Given the description of an element on the screen output the (x, y) to click on. 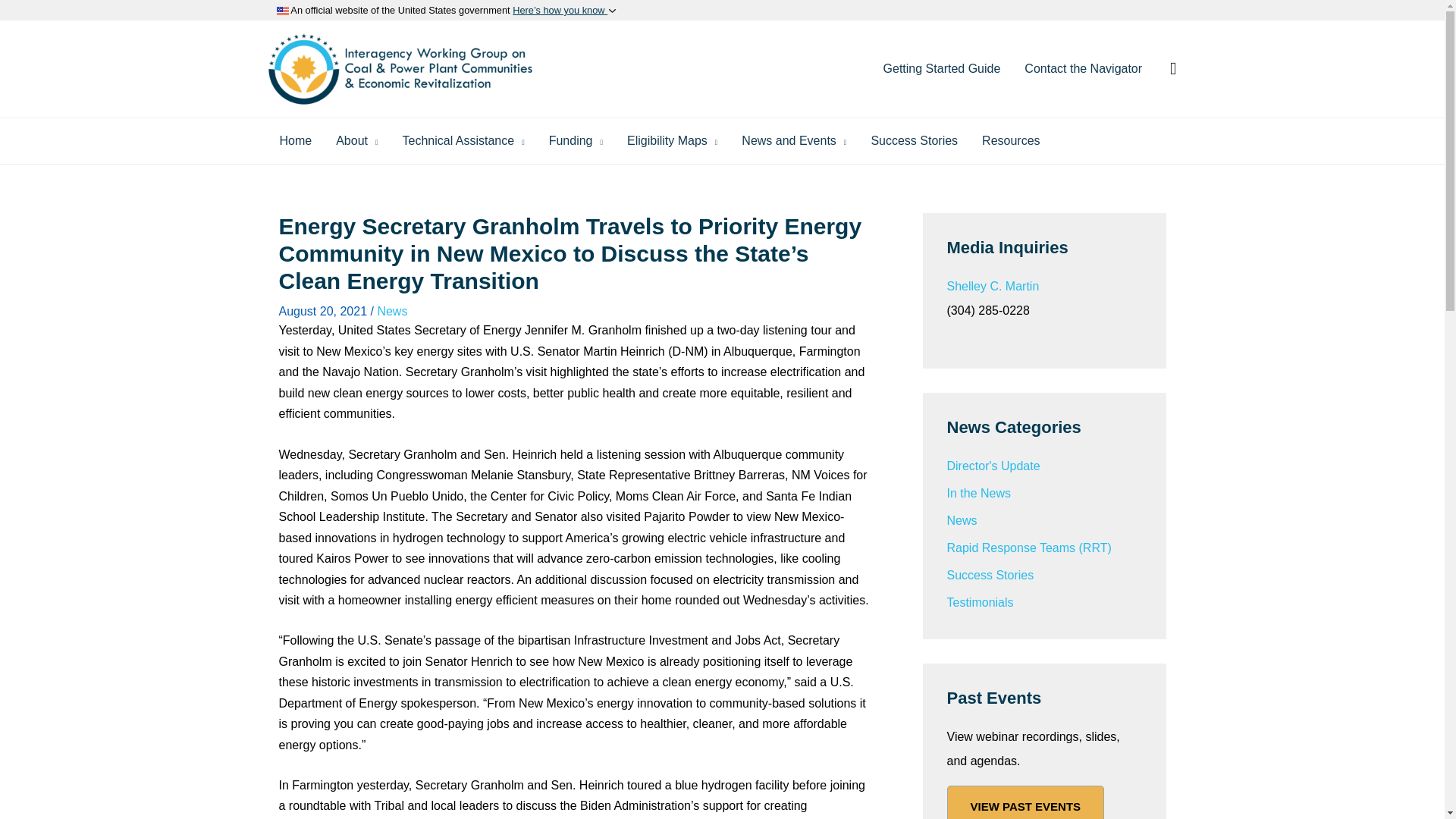
Resources (1010, 140)
Home (294, 140)
News and Events (794, 140)
Success Stories (914, 140)
Funding (575, 140)
Getting Started Guide (941, 68)
Eligibility Maps (671, 140)
Technical Assistance (463, 140)
About (356, 140)
Contact the Navigator (1082, 68)
